Given the description of an element on the screen output the (x, y) to click on. 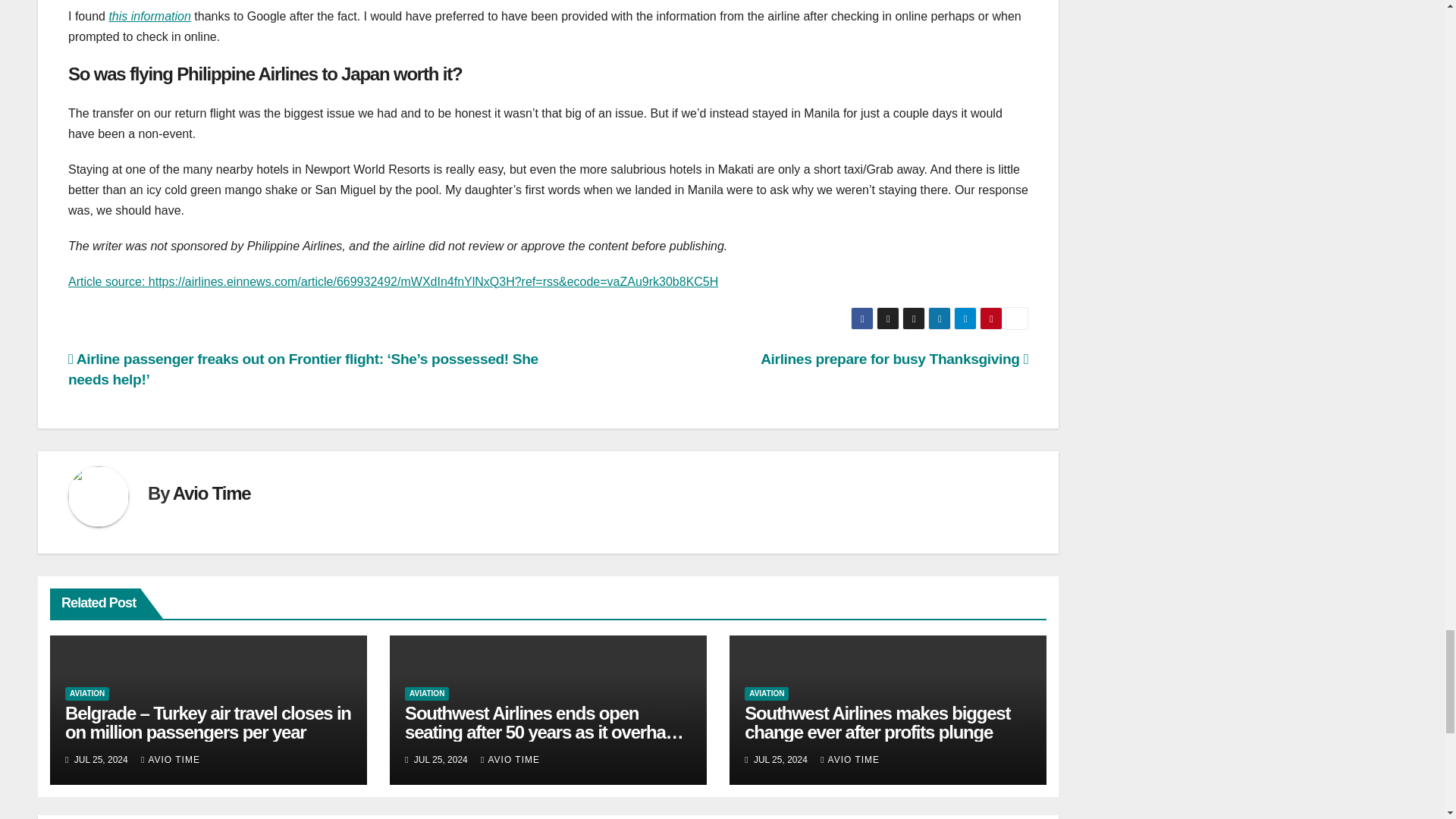
AVIO TIME (170, 759)
Airlines prepare for busy Thanksgiving (893, 358)
this information (148, 15)
AVIO TIME (850, 759)
AVIATION (426, 694)
Avio Time (211, 493)
AVIATION (766, 694)
AVIO TIME (510, 759)
AVIATION (87, 694)
